Given the description of an element on the screen output the (x, y) to click on. 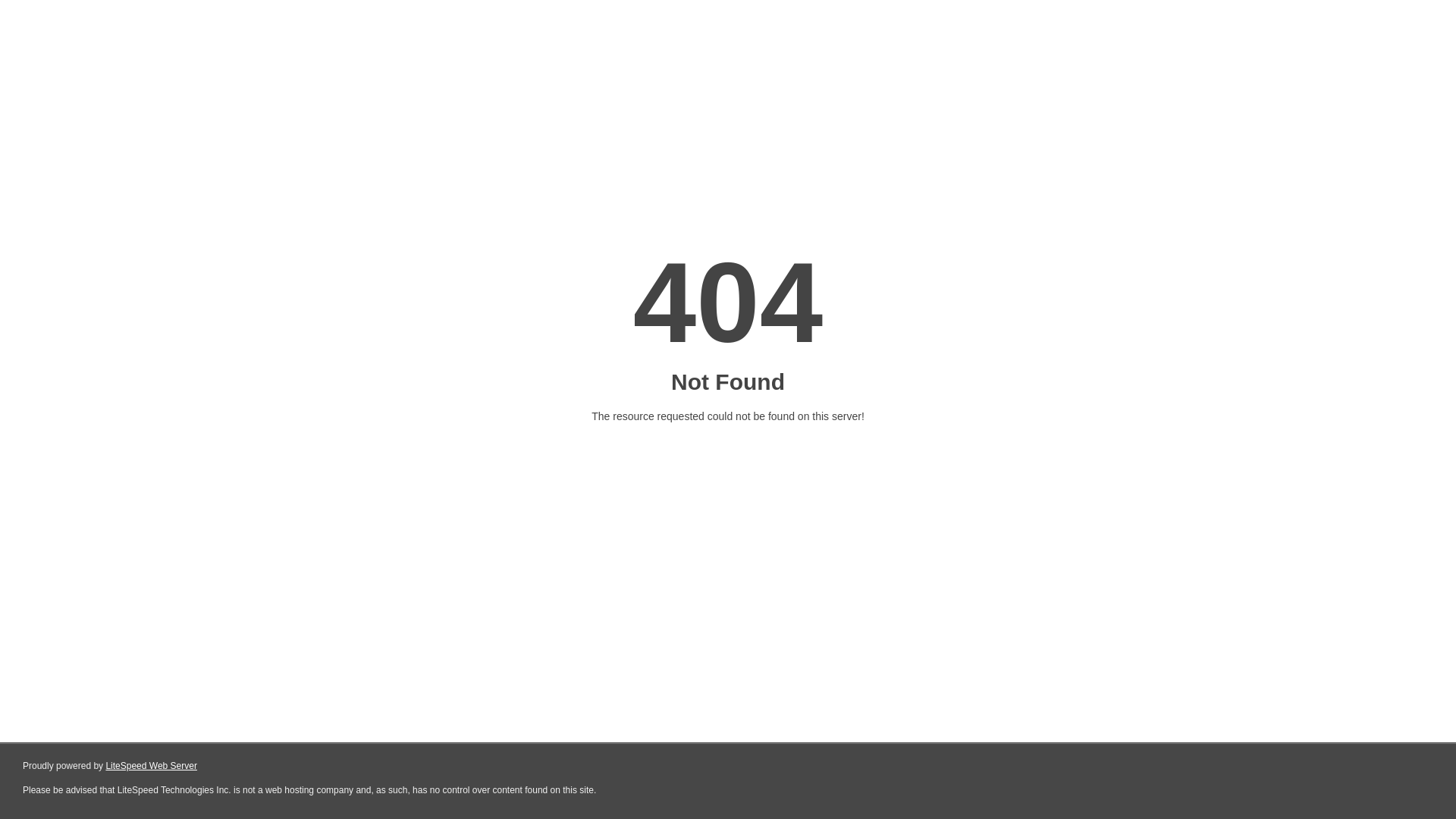
LiteSpeed Web Server Element type: text (151, 765)
